Given the description of an element on the screen output the (x, y) to click on. 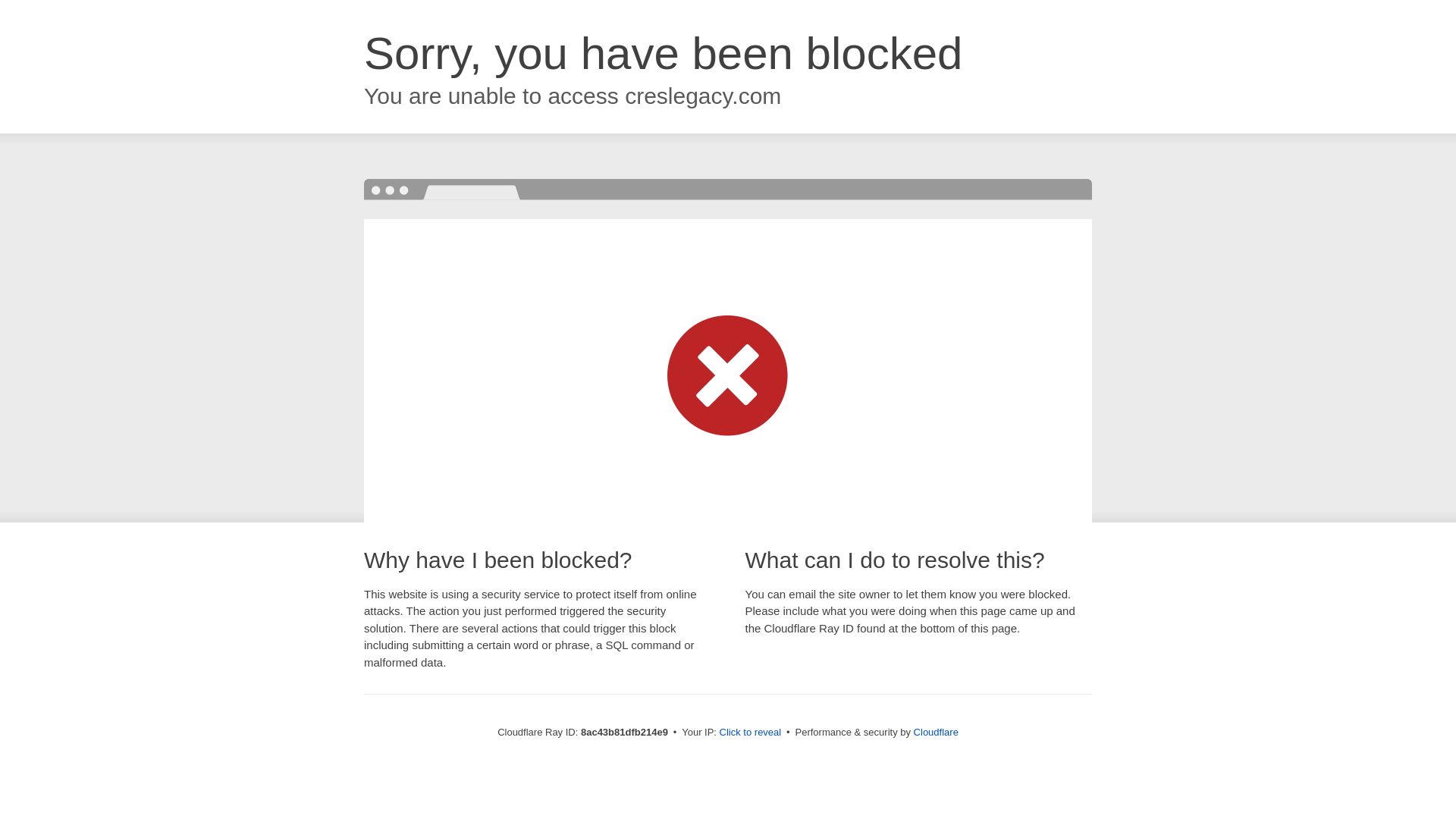
Click to reveal (750, 732)
Cloudflare (936, 731)
